Given the description of an element on the screen output the (x, y) to click on. 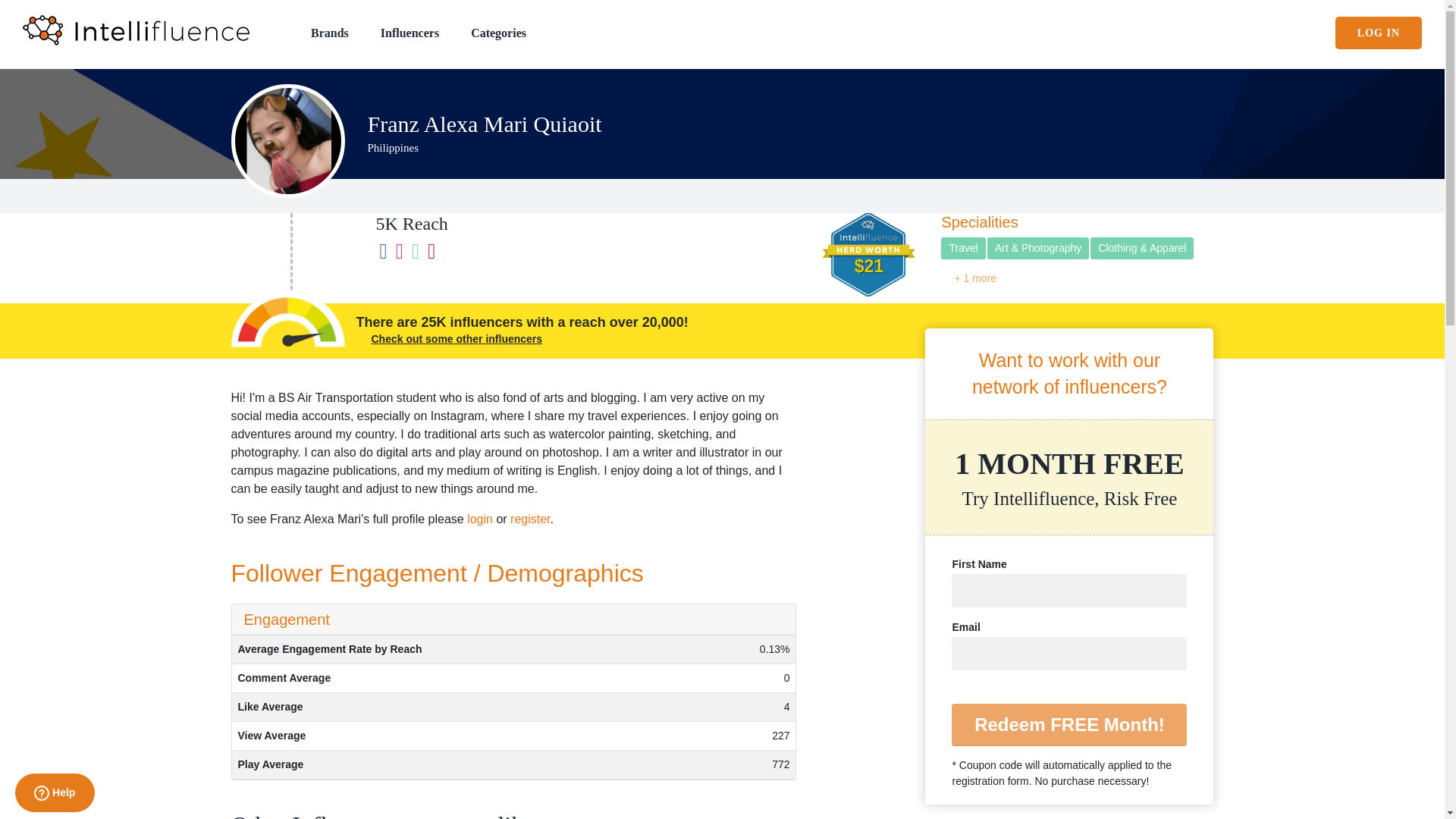
LOG IN (1378, 31)
register (530, 518)
Redeem FREE Month! (1069, 724)
Influencers (409, 31)
Check out some other influencers (457, 338)
Travel (962, 248)
login (480, 518)
